Given the description of an element on the screen output the (x, y) to click on. 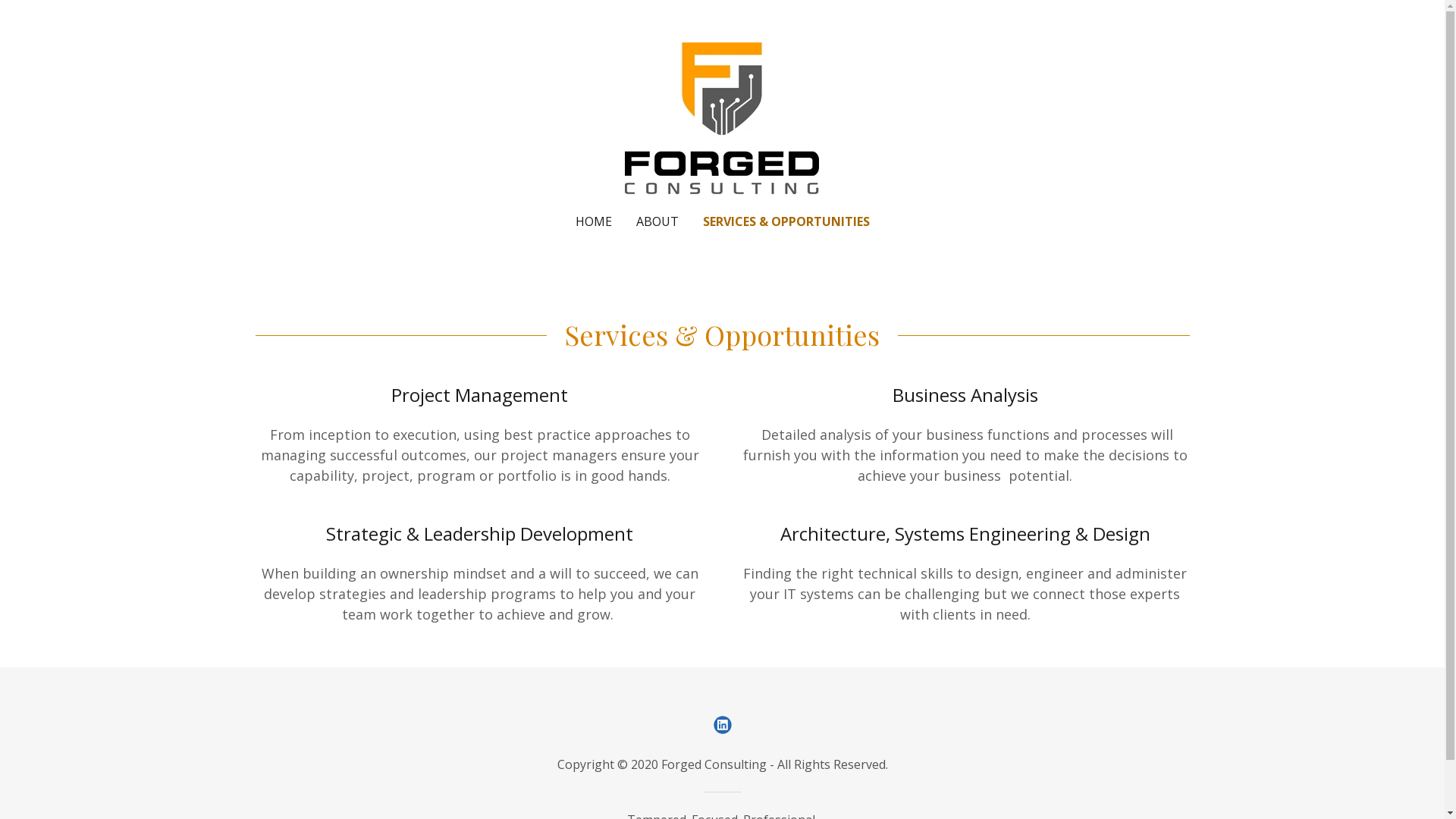
SERVICES & OPPORTUNITIES Element type: text (785, 221)
Forged Consulting Element type: hover (721, 116)
HOME Element type: text (592, 221)
ABOUT Element type: text (656, 221)
